Given the description of an element on the screen output the (x, y) to click on. 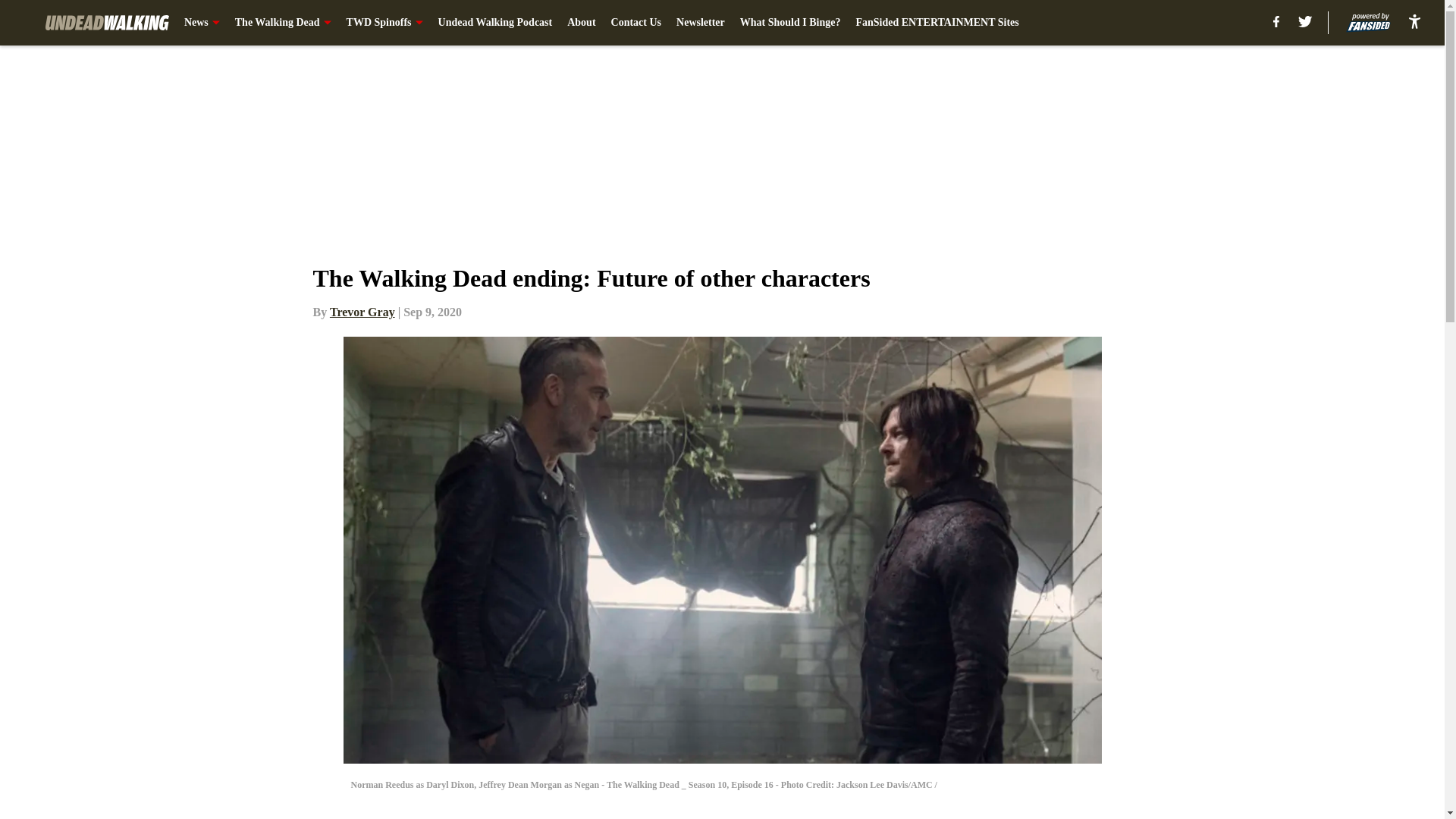
Newsletter (701, 22)
What Should I Binge? (790, 22)
Trevor Gray (362, 311)
Contact Us (636, 22)
FanSided ENTERTAINMENT Sites (936, 22)
Undead Walking Podcast (495, 22)
About (581, 22)
